Given the description of an element on the screen output the (x, y) to click on. 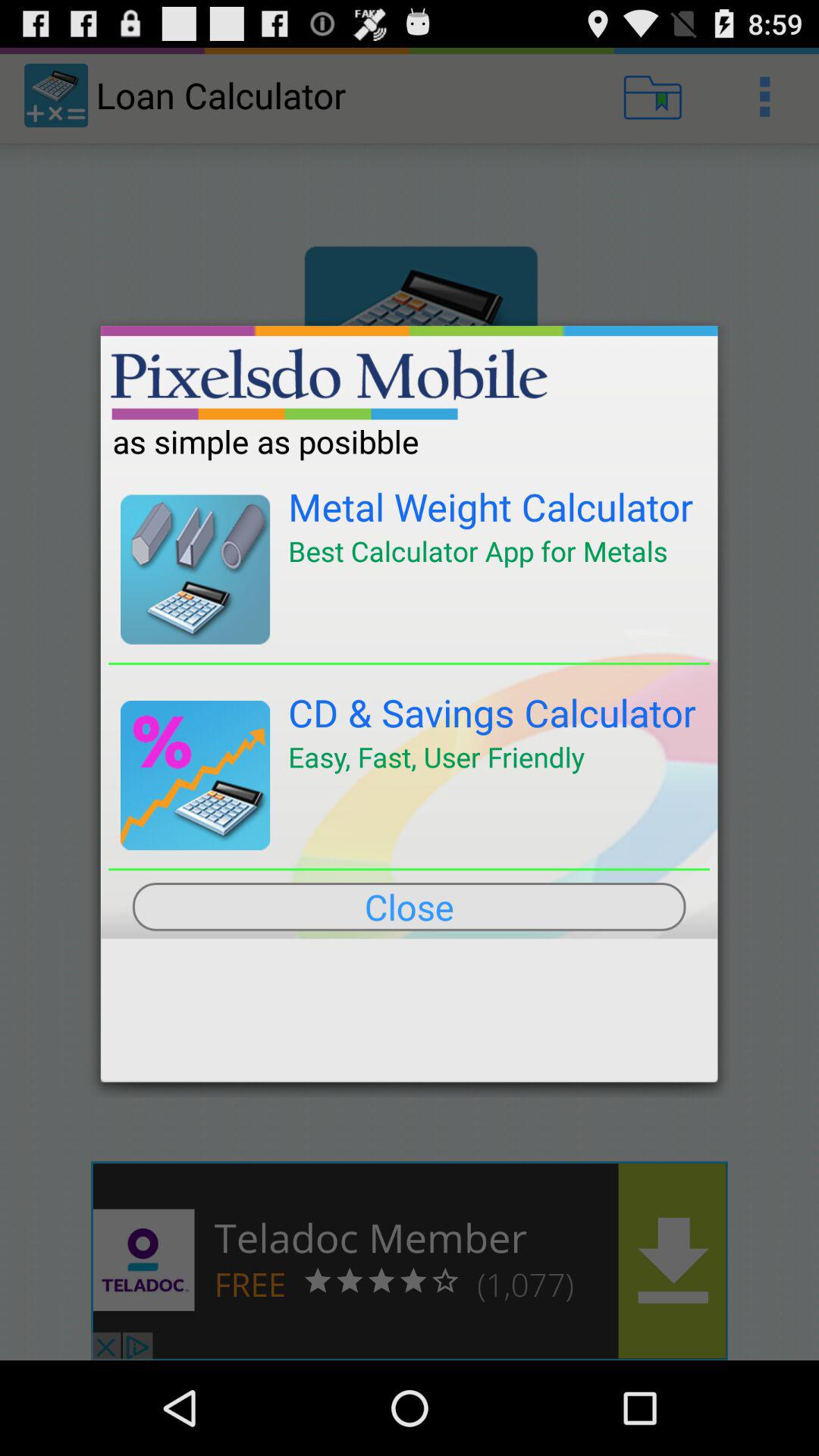
tap the metal weight calculator icon (490, 506)
